Given the description of an element on the screen output the (x, y) to click on. 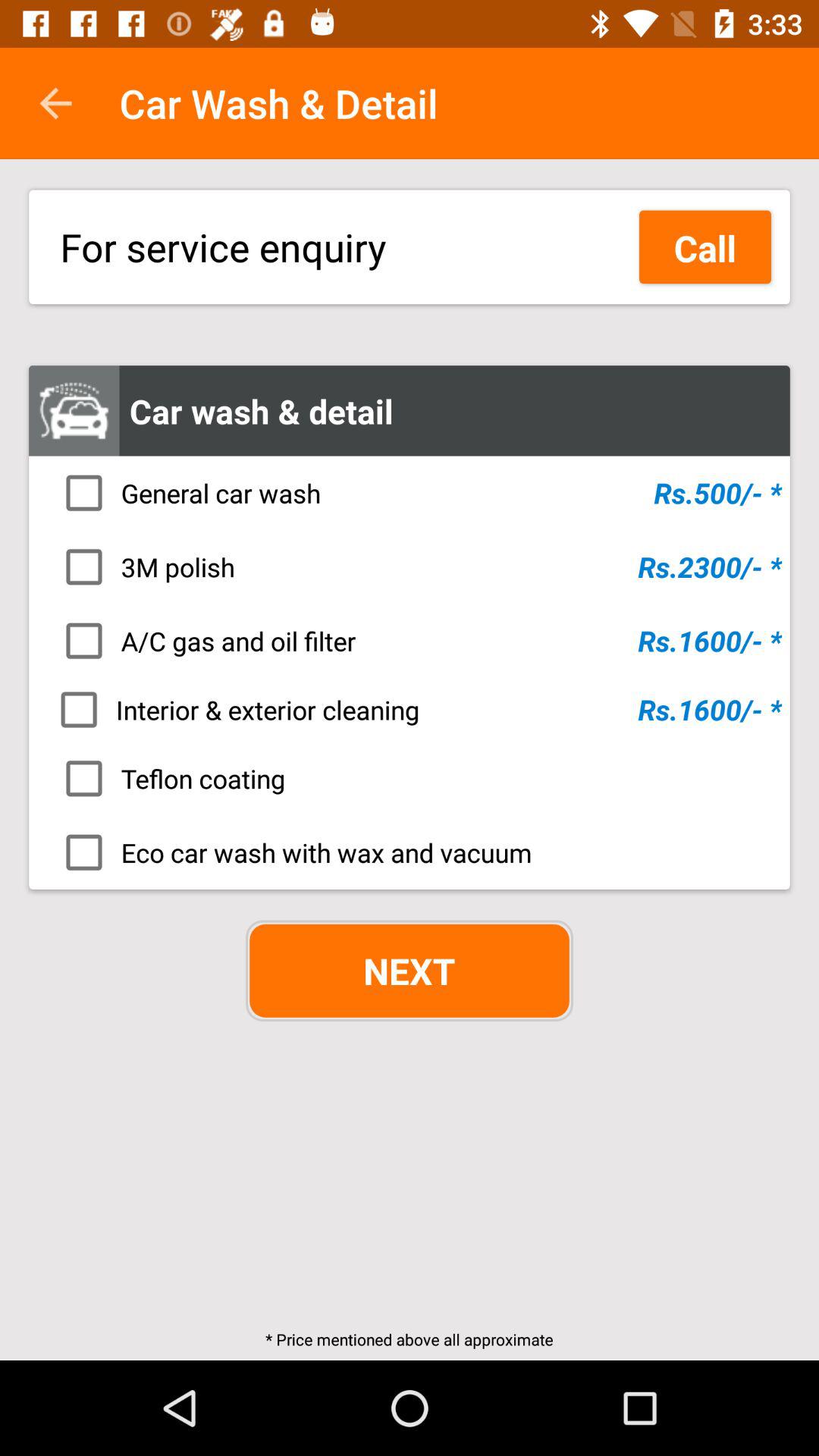
launch icon below the 3m polish (414, 640)
